Given the description of an element on the screen output the (x, y) to click on. 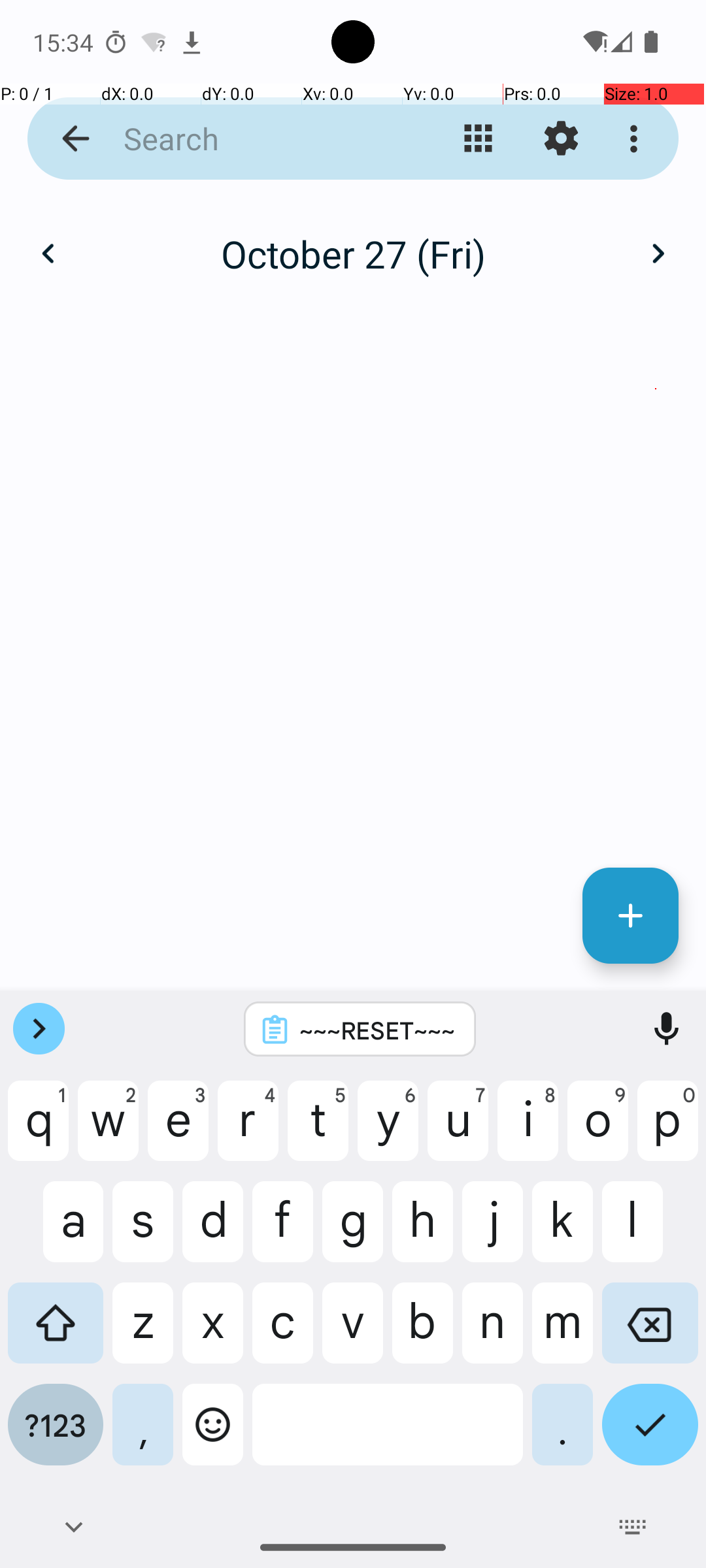
October 27 (Fri) Element type: android.widget.TextView (352, 253)
